Given the description of an element on the screen output the (x, y) to click on. 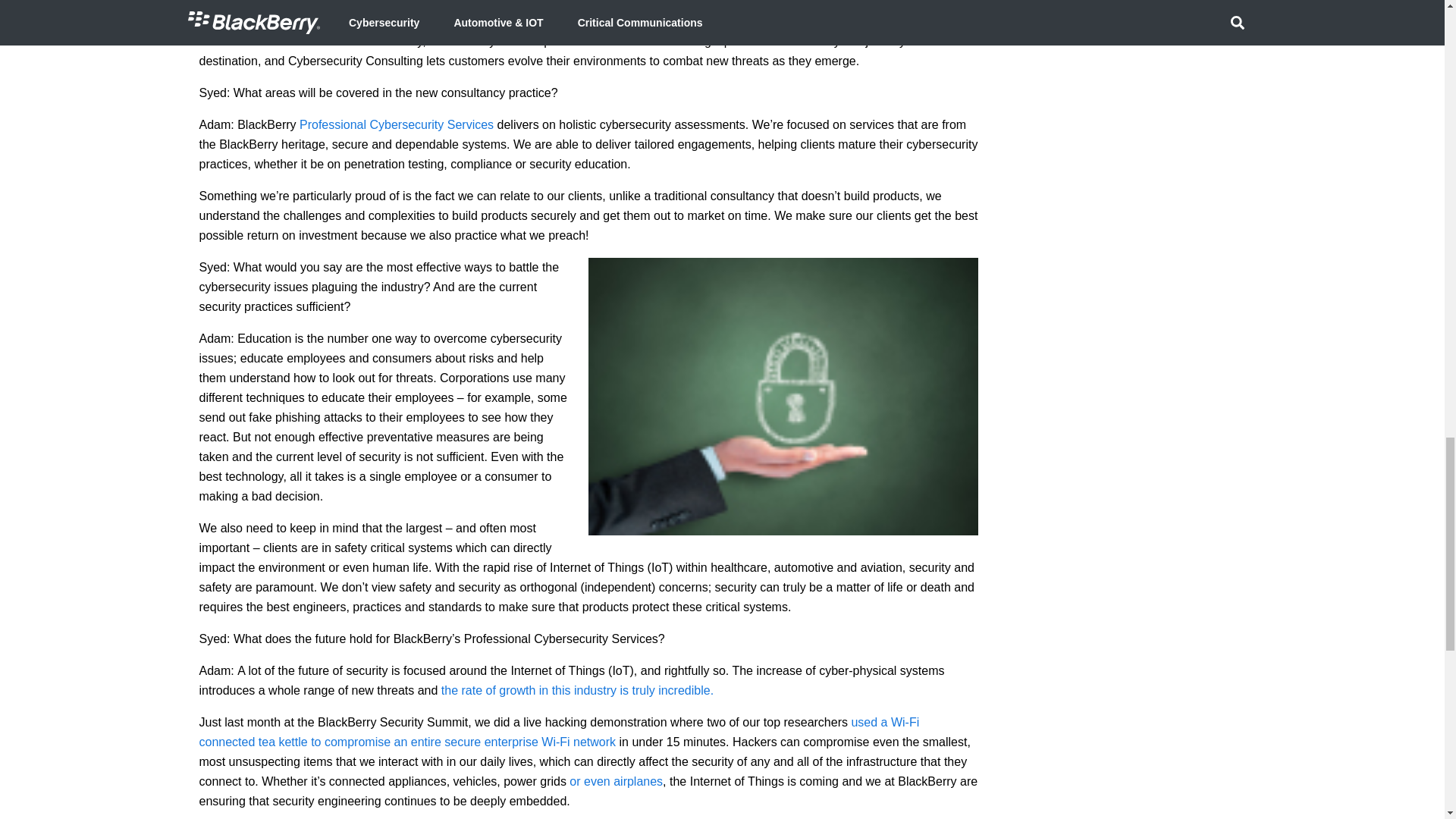
the rate of growth in this industry is truly incredible. (577, 689)
Professional Cybersecurity Services (396, 124)
or even airplanes (615, 780)
